Given the description of an element on the screen output the (x, y) to click on. 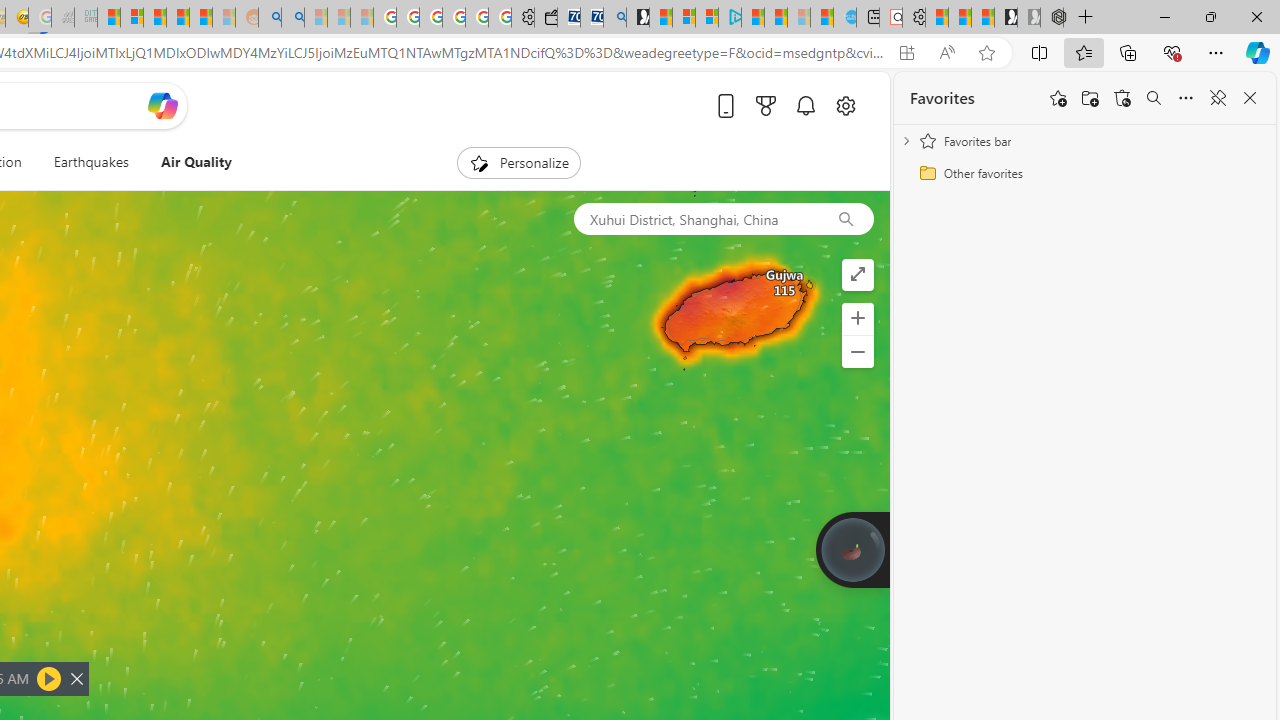
More options (1186, 98)
Open Copilot (162, 105)
Bing Real Estate - Home sales and rental listings (614, 17)
Open Copilot (162, 105)
Utah sues federal government - Search (292, 17)
Join us in planting real trees to help our planet! (852, 549)
Microsoft rewards (764, 105)
Microsoft Start Gaming (637, 17)
